Given the description of an element on the screen output the (x, y) to click on. 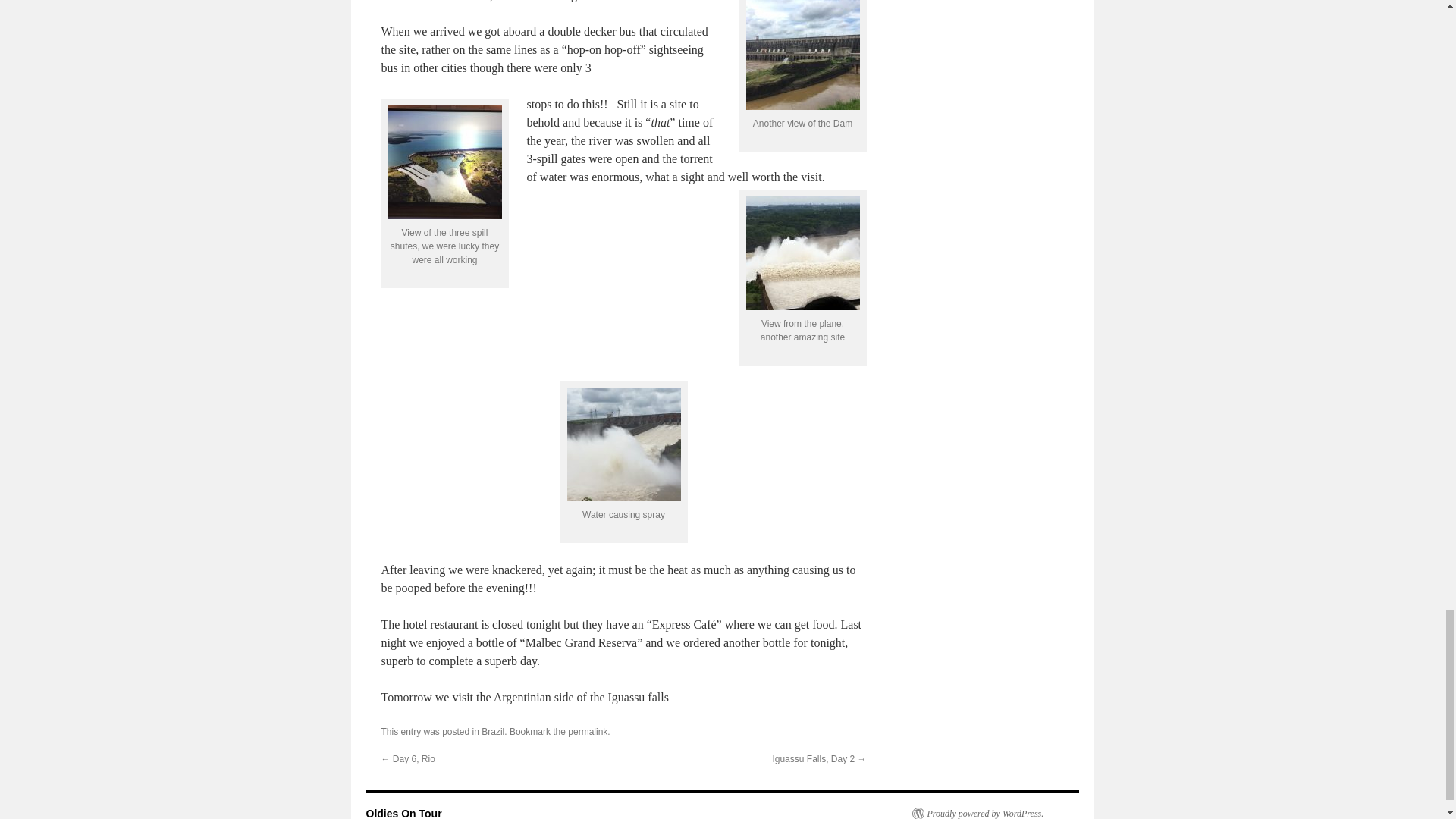
Brazil (492, 731)
Permalink to First day in Iguassu (587, 731)
permalink (587, 731)
